Given the description of an element on the screen output the (x, y) to click on. 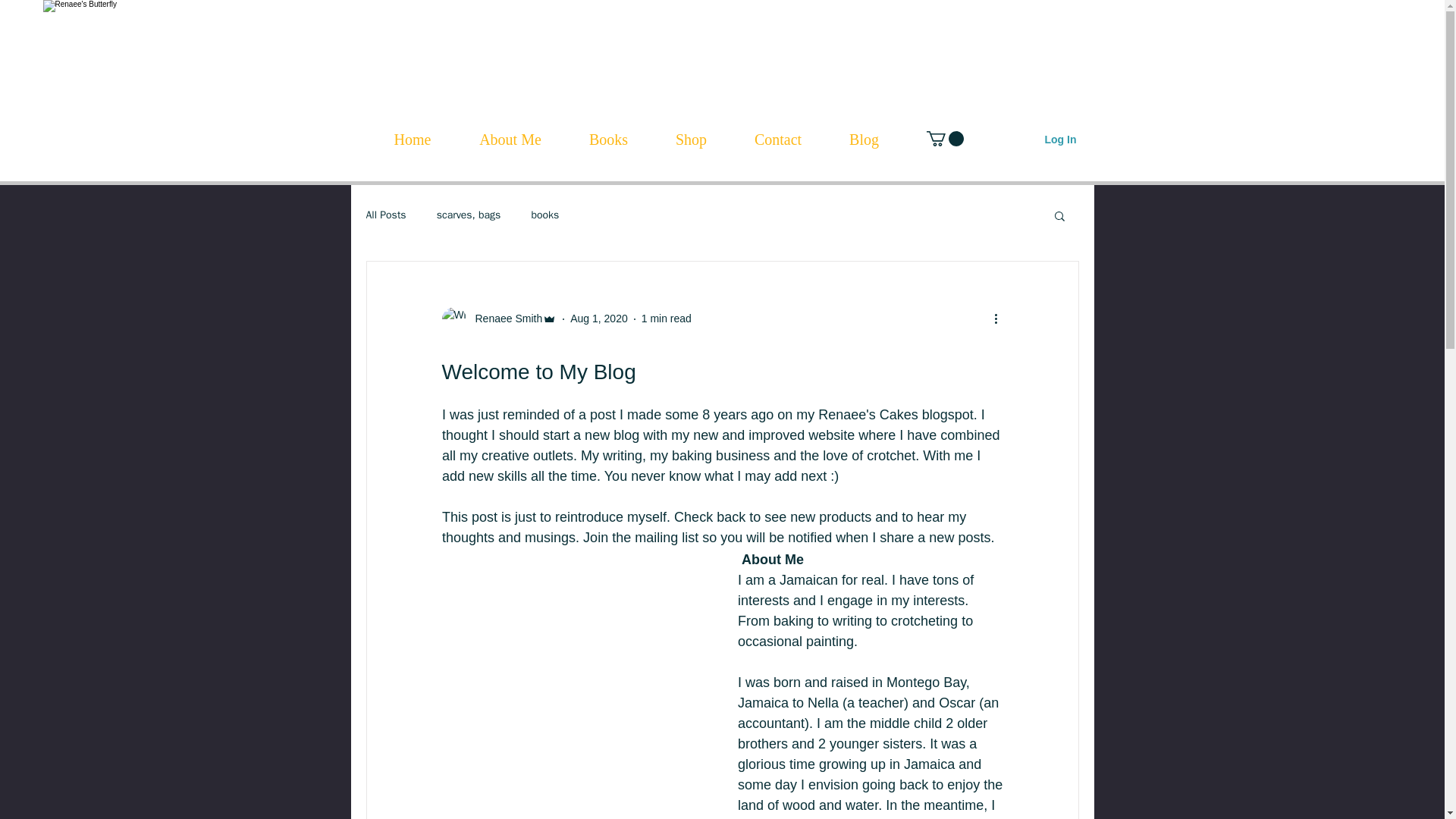
scarves, bags (468, 214)
books (545, 214)
Shop (691, 139)
Log In (1060, 139)
Blog (863, 139)
Contact (777, 139)
Books (609, 139)
About Me (509, 139)
Home (412, 139)
All Posts (385, 214)
Renaee Smith (498, 319)
1 min read (666, 318)
Aug 1, 2020 (598, 318)
Renaee Smith (503, 318)
